Given the description of an element on the screen output the (x, y) to click on. 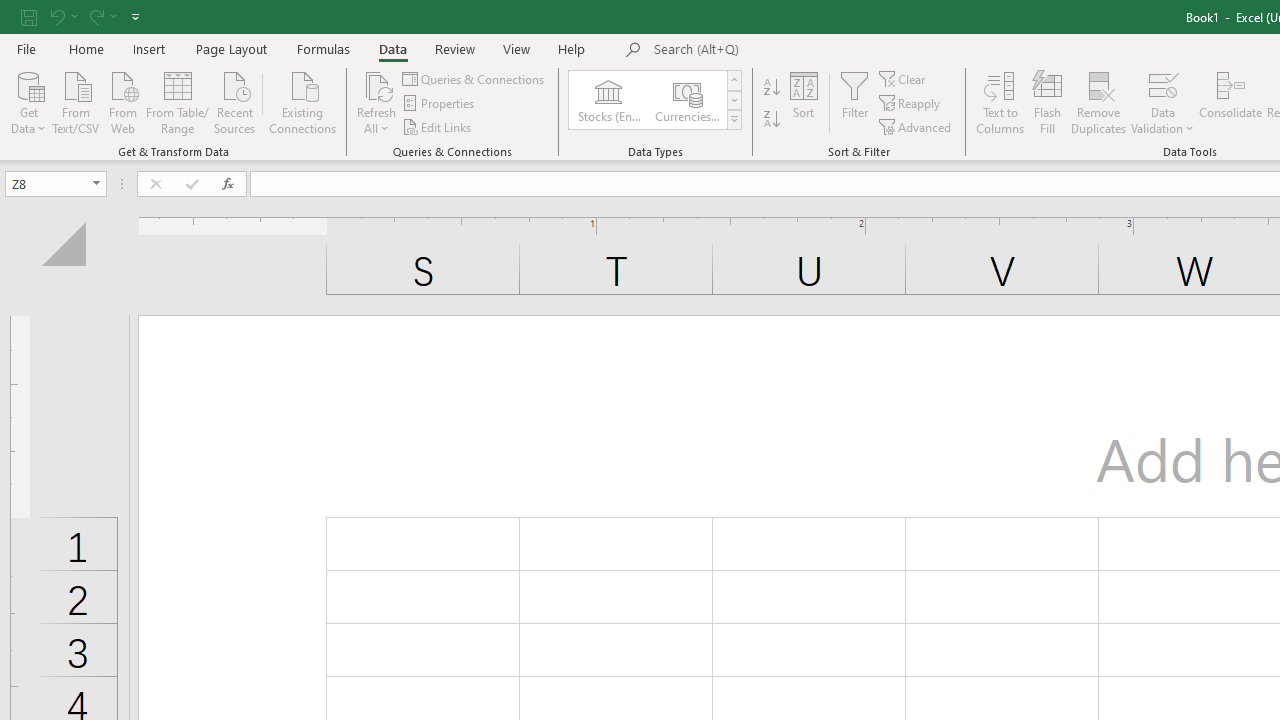
Consolidate... (1230, 102)
